Given the description of an element on the screen output the (x, y) to click on. 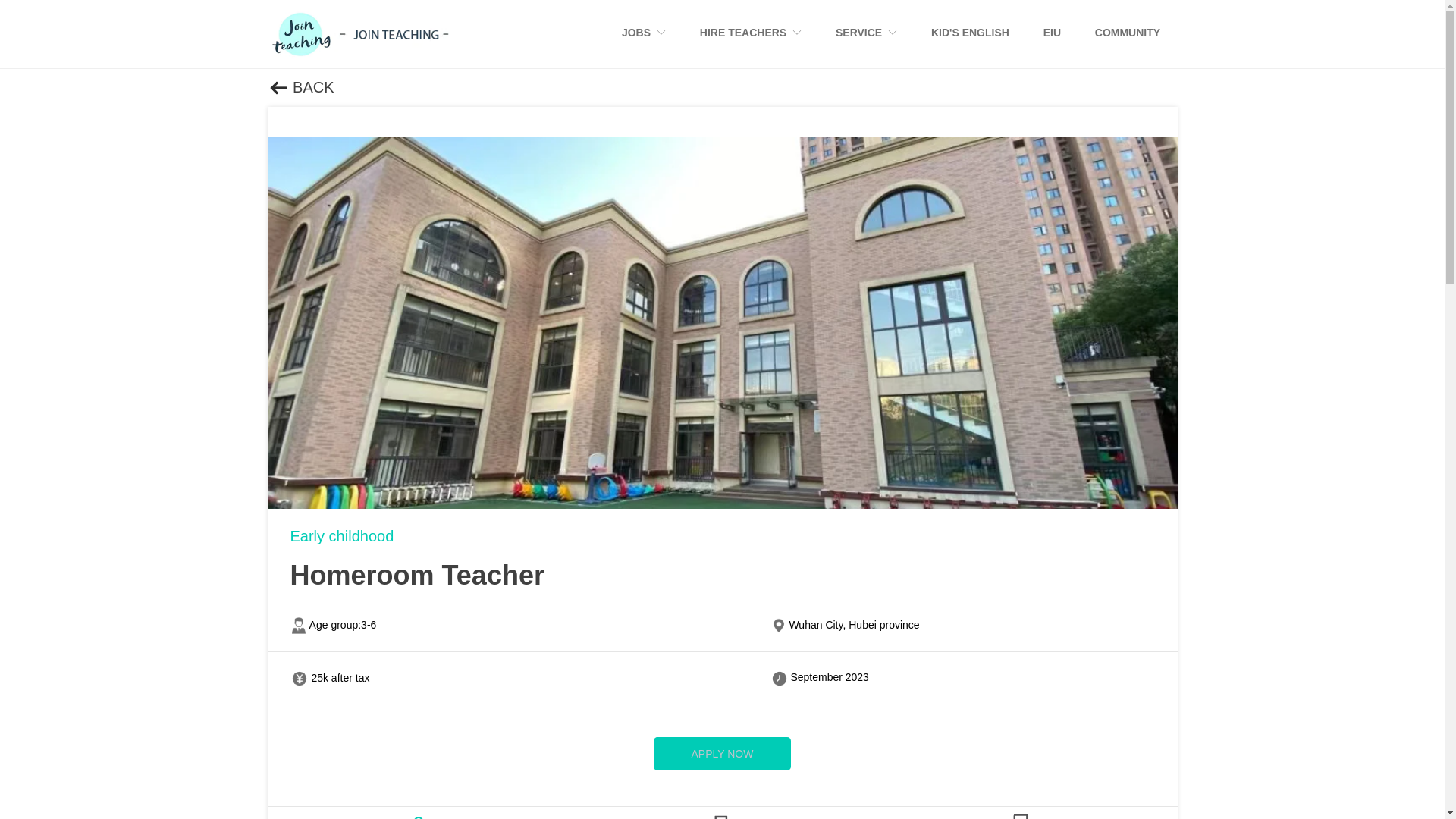
KID'S ENGLISH (970, 33)
